Given the description of an element on the screen output the (x, y) to click on. 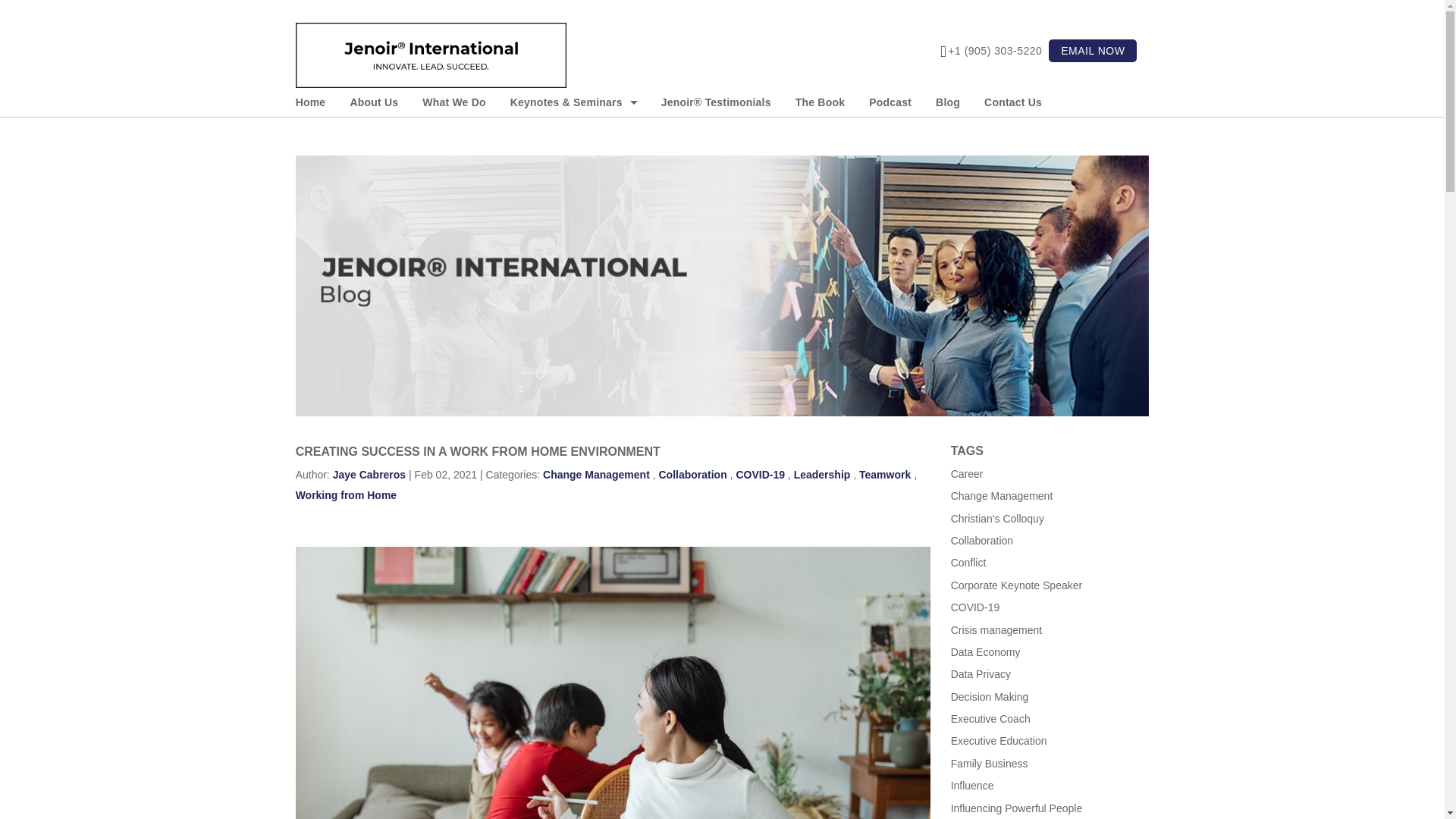
Change Management (596, 474)
CREATING SUCCESS IN A WORK FROM HOME ENVIRONMENT (478, 451)
The Book (820, 102)
Podcast (890, 102)
What We Do (453, 102)
Teamwork (885, 474)
Working from Home (346, 494)
Home (316, 102)
Collaboration (692, 474)
Contact Us (1013, 102)
About Us (373, 102)
EMAIL NOW (1092, 50)
Blog (947, 102)
COVID-19 (759, 474)
Leadership (821, 474)
